Given the description of an element on the screen output the (x, y) to click on. 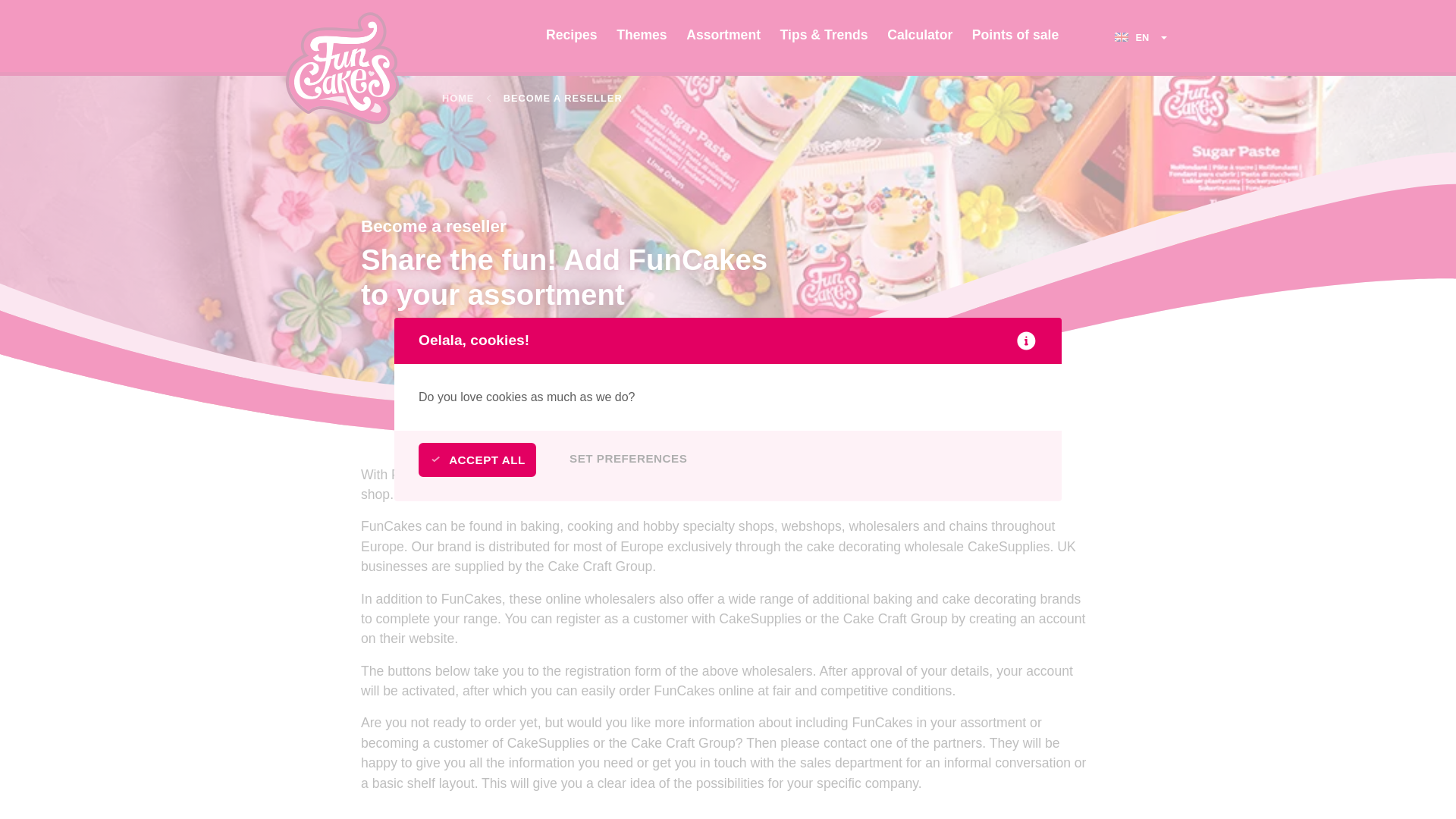
Points of sale (1015, 38)
EN (1142, 38)
Assortment (722, 38)
